Given the description of an element on the screen output the (x, y) to click on. 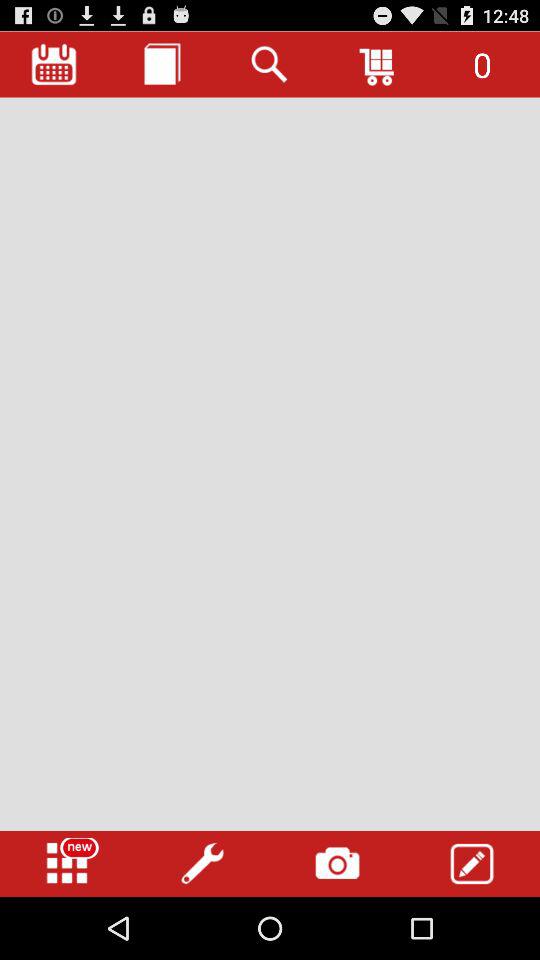
select camera (337, 863)
